Given the description of an element on the screen output the (x, y) to click on. 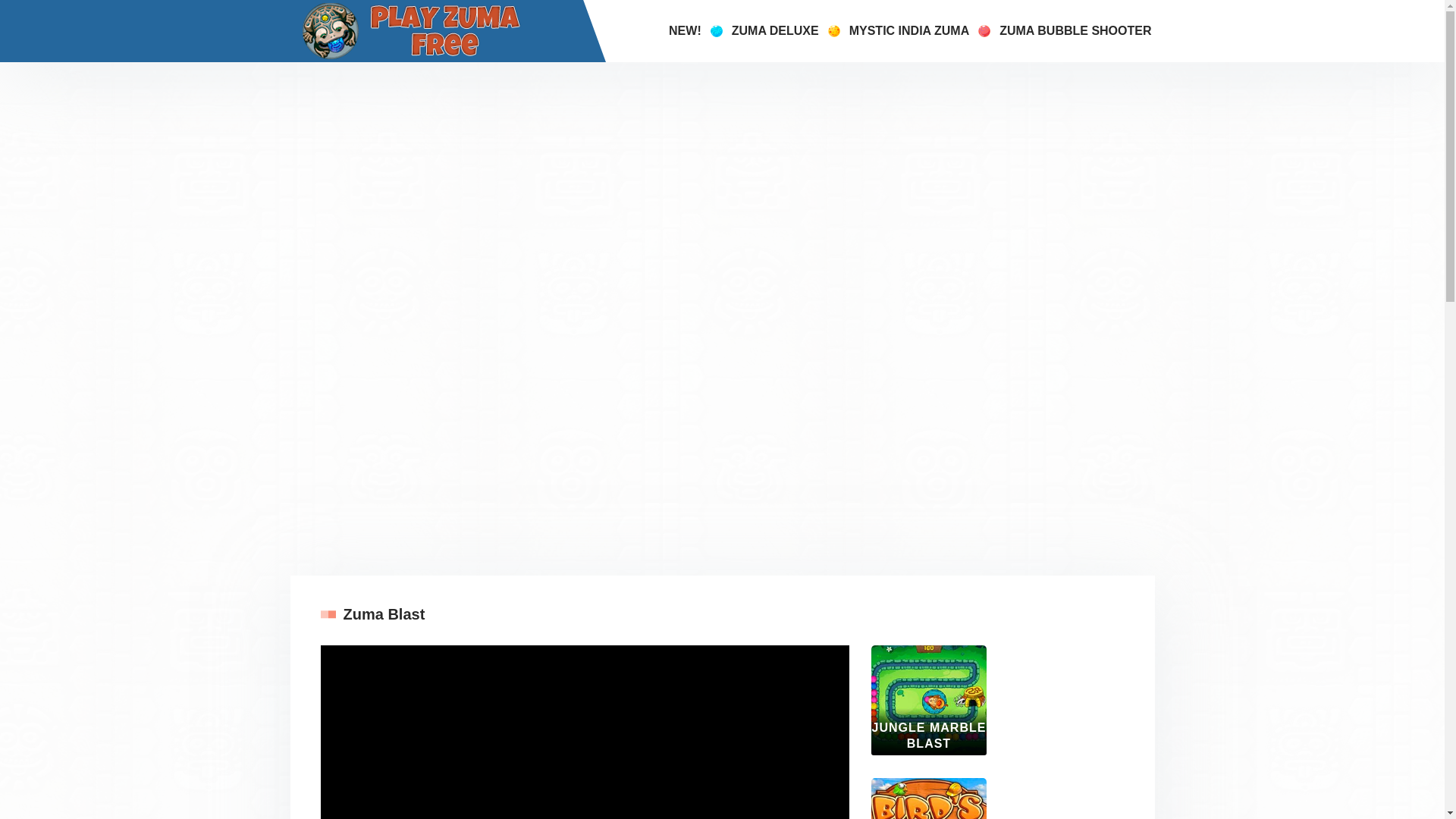
ZUMA DELUXE (775, 30)
BIRD TOWN (928, 798)
MYSTIC INDIA ZUMA (908, 30)
ZUMA BUBBLE SHOOTER (1074, 30)
JUNGLE MARBLE BLAST (928, 700)
